Given the description of an element on the screen output the (x, y) to click on. 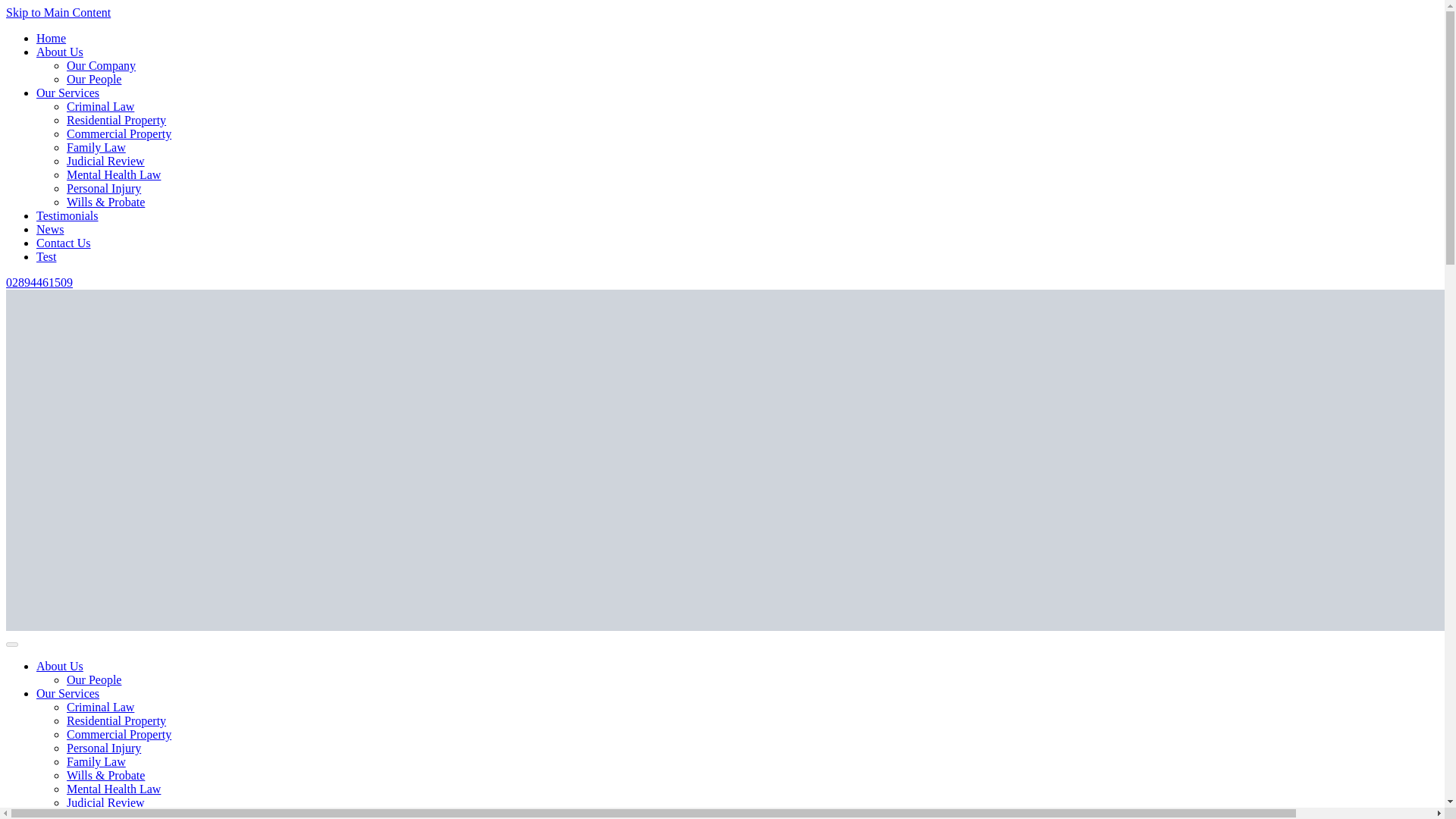
Our Services (67, 693)
Skip to Main Content (57, 11)
Commercial Property (118, 734)
Personal Injury (103, 187)
Criminal Law (99, 707)
Our People (93, 679)
Test (46, 256)
02894461509 (38, 282)
Our Company (100, 65)
Commercial Property (118, 133)
Personal Injury (103, 748)
Mental Health Law (113, 174)
Home (50, 38)
Our People (93, 78)
News (50, 228)
